Given the description of an element on the screen output the (x, y) to click on. 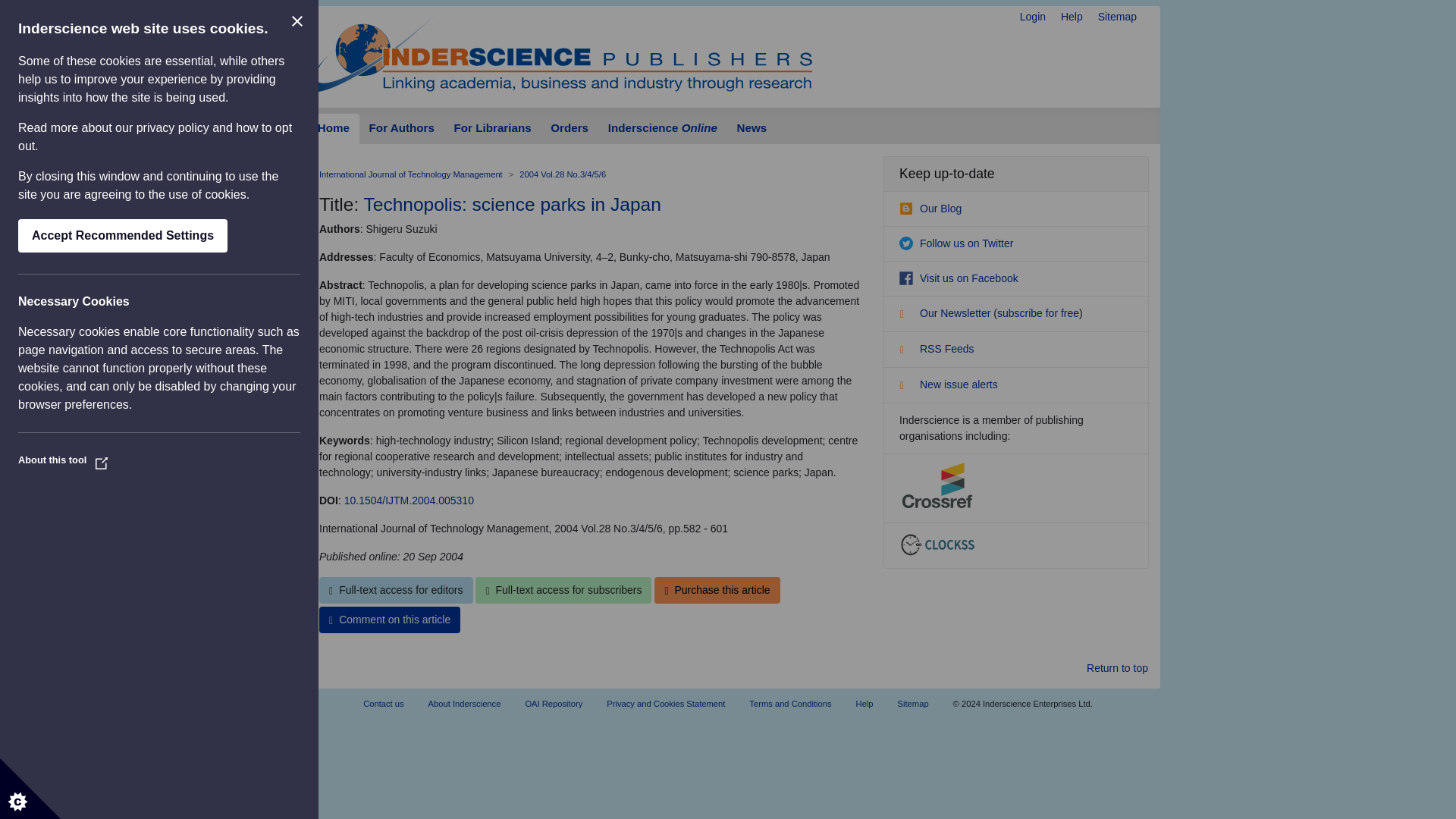
list (906, 315)
Our Newsletter (945, 313)
privacy policy (172, 127)
For Authors (401, 128)
Inderscience Online (662, 128)
Login (1032, 16)
RSS (906, 351)
News (751, 128)
Read our privacy policy (172, 127)
Full-text access for subscribers (563, 590)
For Librarians (492, 128)
Accept Recommended Settings (122, 235)
Comment on this article (389, 619)
New issue alerts (948, 384)
International Journal of Technology Management (410, 174)
